Given the description of an element on the screen output the (x, y) to click on. 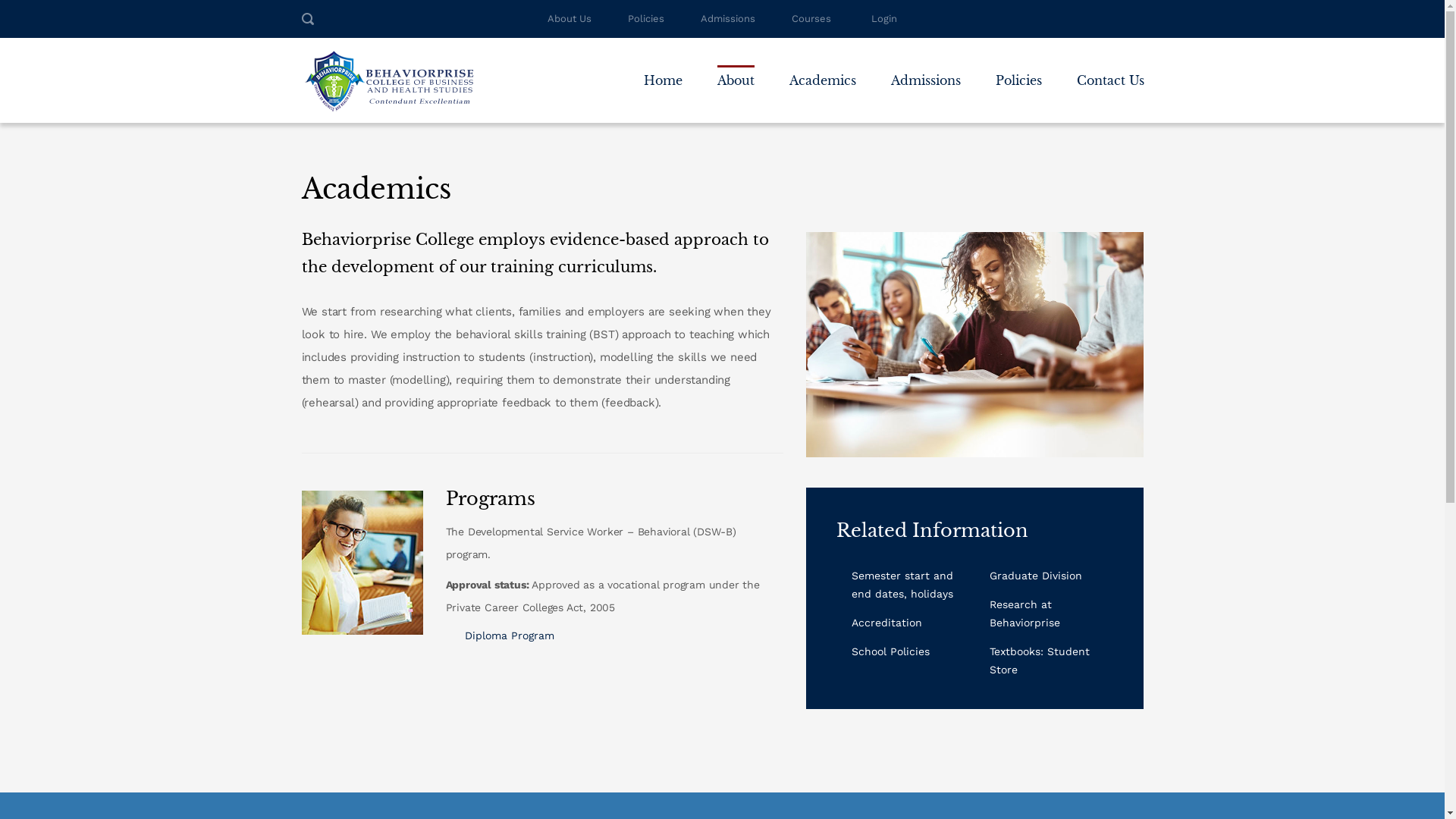
Textbooks: Student Store Element type: text (1039, 659)
Login Element type: text (884, 18)
School Policies Element type: text (889, 650)
Semester start and end dates, holidays Element type: text (901, 583)
Diploma Program Element type: text (508, 635)
Policies Element type: text (645, 18)
Home Element type: text (662, 66)
Contact Us Element type: text (1110, 66)
Policies Element type: text (1017, 66)
About Element type: text (735, 66)
Graduate Division Element type: text (1035, 574)
Admissions Element type: text (727, 18)
About Us Element type: text (569, 18)
Accreditation Element type: text (885, 621)
Academics Element type: text (821, 66)
Courses Element type: text (811, 18)
Admissions Element type: text (925, 66)
Behaviorprise Element type: hover (388, 79)
Research at Behaviorprise Element type: text (1024, 612)
